Given the description of an element on the screen output the (x, y) to click on. 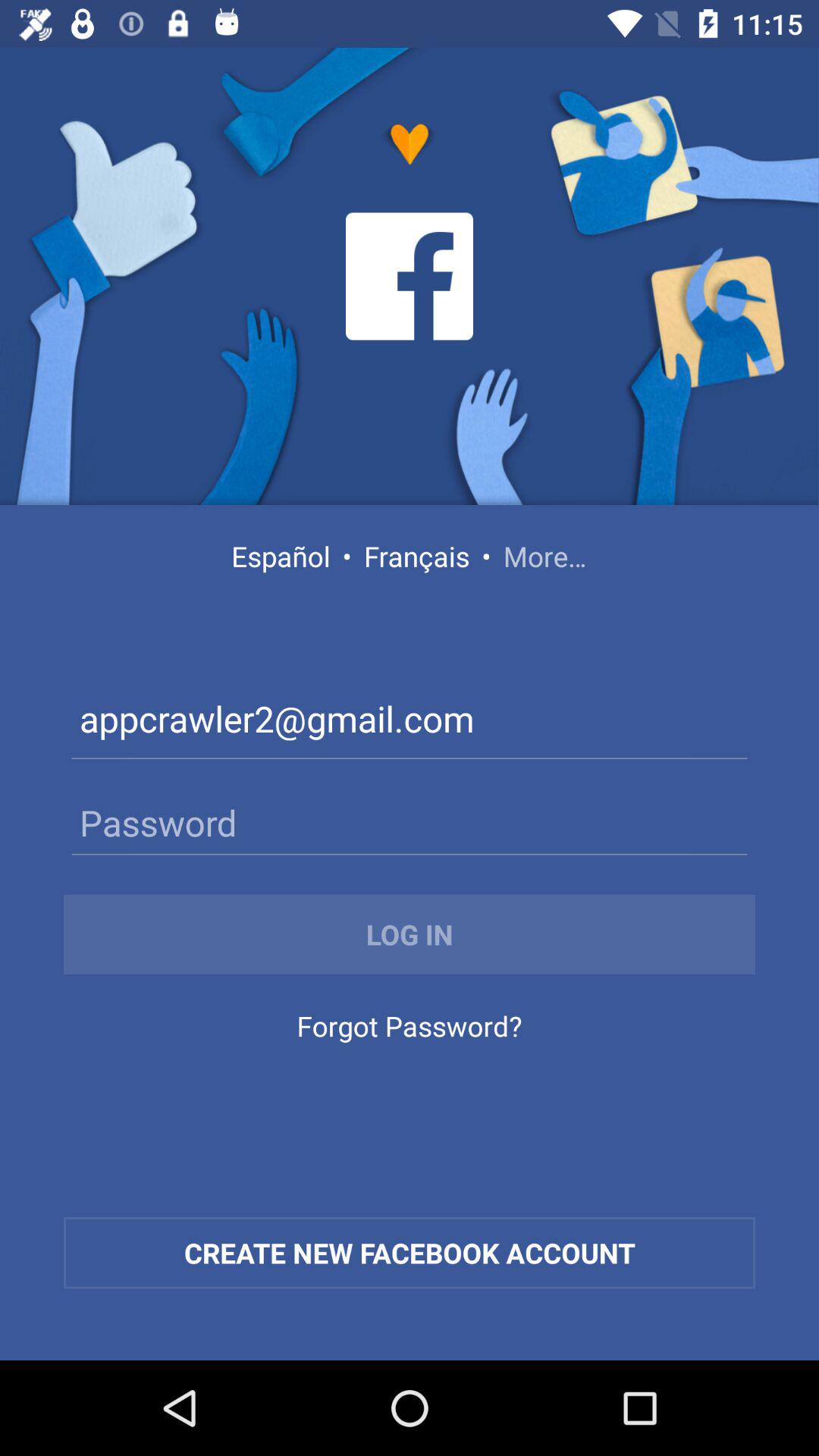
launch the log in icon (409, 934)
